Given the description of an element on the screen output the (x, y) to click on. 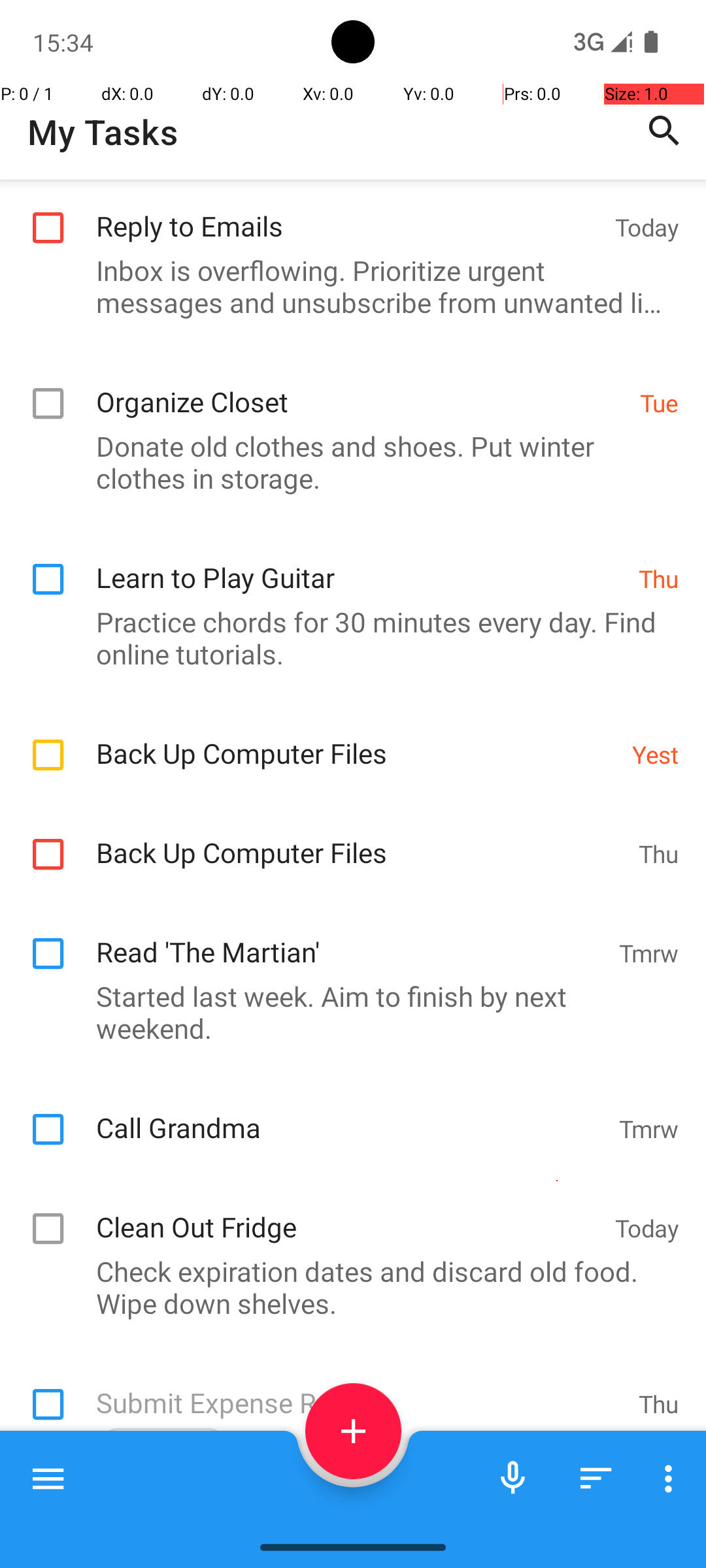
Reply to Emails Element type: android.widget.TextView (348, 211)
Inbox is overflowing. Prioritize urgent messages and unsubscribe from unwanted lists. Element type: android.widget.TextView (346, 285)
Organize Closet Element type: android.widget.TextView (361, 387)
Donate old clothes and shoes. Put winter clothes in storage. Element type: android.widget.TextView (346, 461)
Learn to Play Guitar Element type: android.widget.TextView (360, 563)
Practice chords for 30 minutes every day. Find online tutorials. Element type: android.widget.TextView (346, 637)
Back Up Computer Files Element type: android.widget.TextView (357, 738)
Read 'The Martian' Element type: android.widget.TextView (350, 937)
Started last week. Aim to finish by next weekend. Element type: android.widget.TextView (346, 1011)
Call Grandma Element type: android.widget.TextView (350, 1113)
Clean Out Fridge Element type: android.widget.TextView (348, 1212)
Check expiration dates and discard old food. Wipe down shelves. Element type: android.widget.TextView (346, 1286)
